Given the description of an element on the screen output the (x, y) to click on. 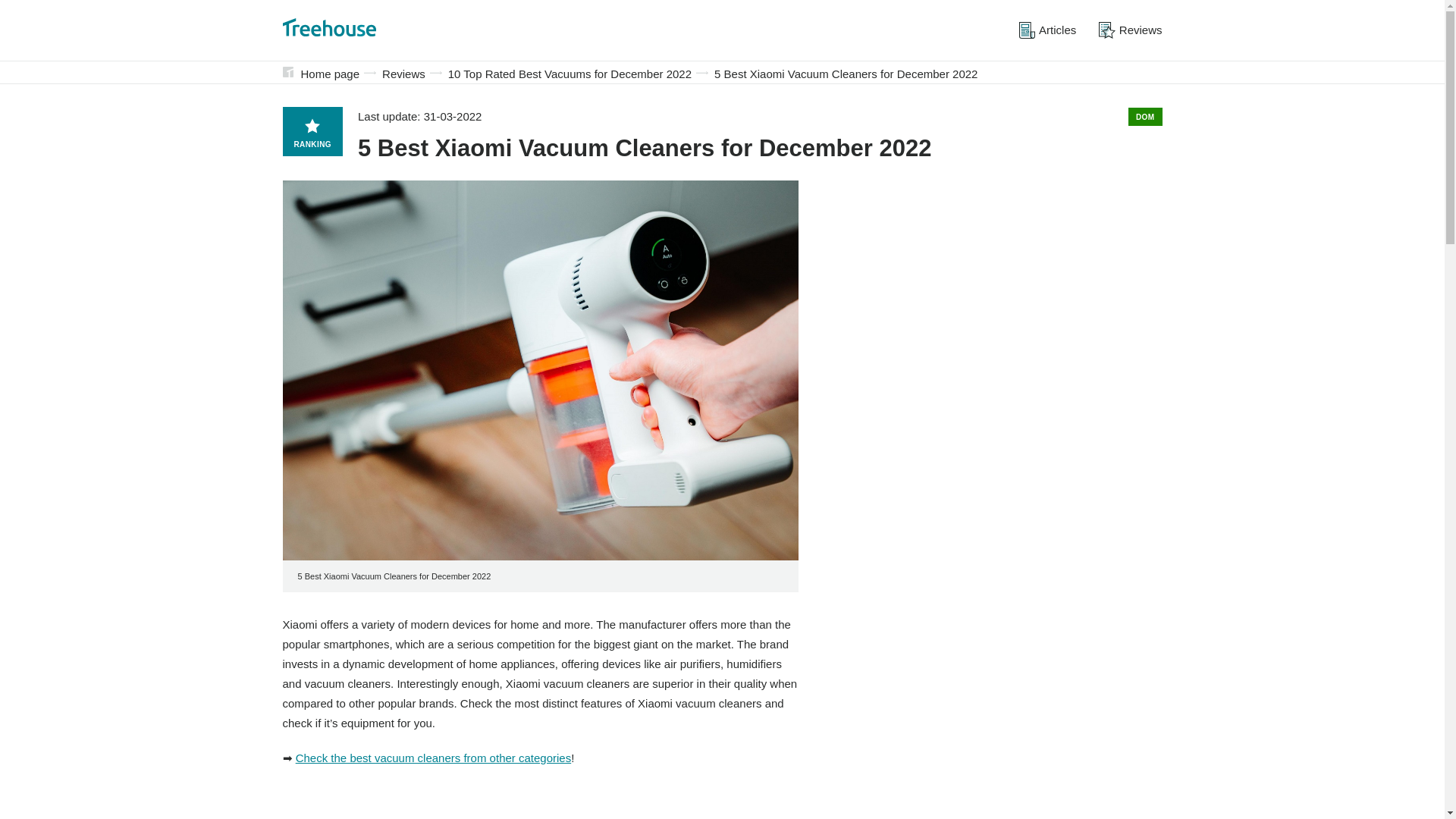
Home page (329, 73)
Articles (1047, 29)
Reviews (1130, 29)
10 Top Rated Best Vacuums for December 2022 (569, 73)
Check the best vacuum cleaners from other categories (433, 757)
Advertisement (539, 800)
Reviews (403, 73)
5 Best Xiaomi Vacuum Cleaners for December 2022 (845, 73)
